Given the description of an element on the screen output the (x, y) to click on. 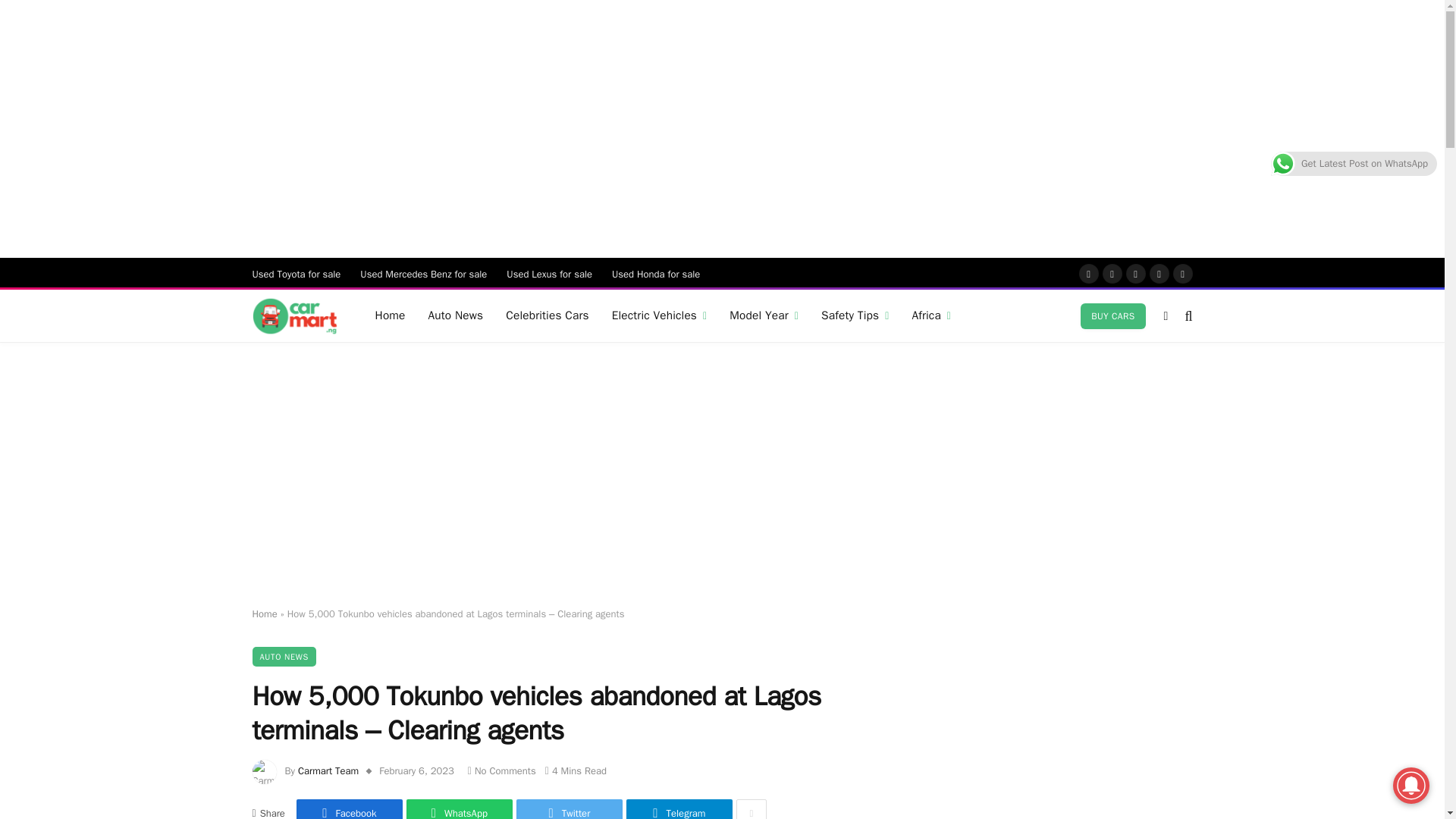
Used Mercedes Benz for sale (423, 273)
Home (390, 315)
Carmart Blog (293, 316)
Pinterest (1159, 273)
Share on WhatsApp (459, 809)
Instagram (1134, 273)
Vimeo (1182, 273)
Used Honda for sale (656, 273)
